Given the description of an element on the screen output the (x, y) to click on. 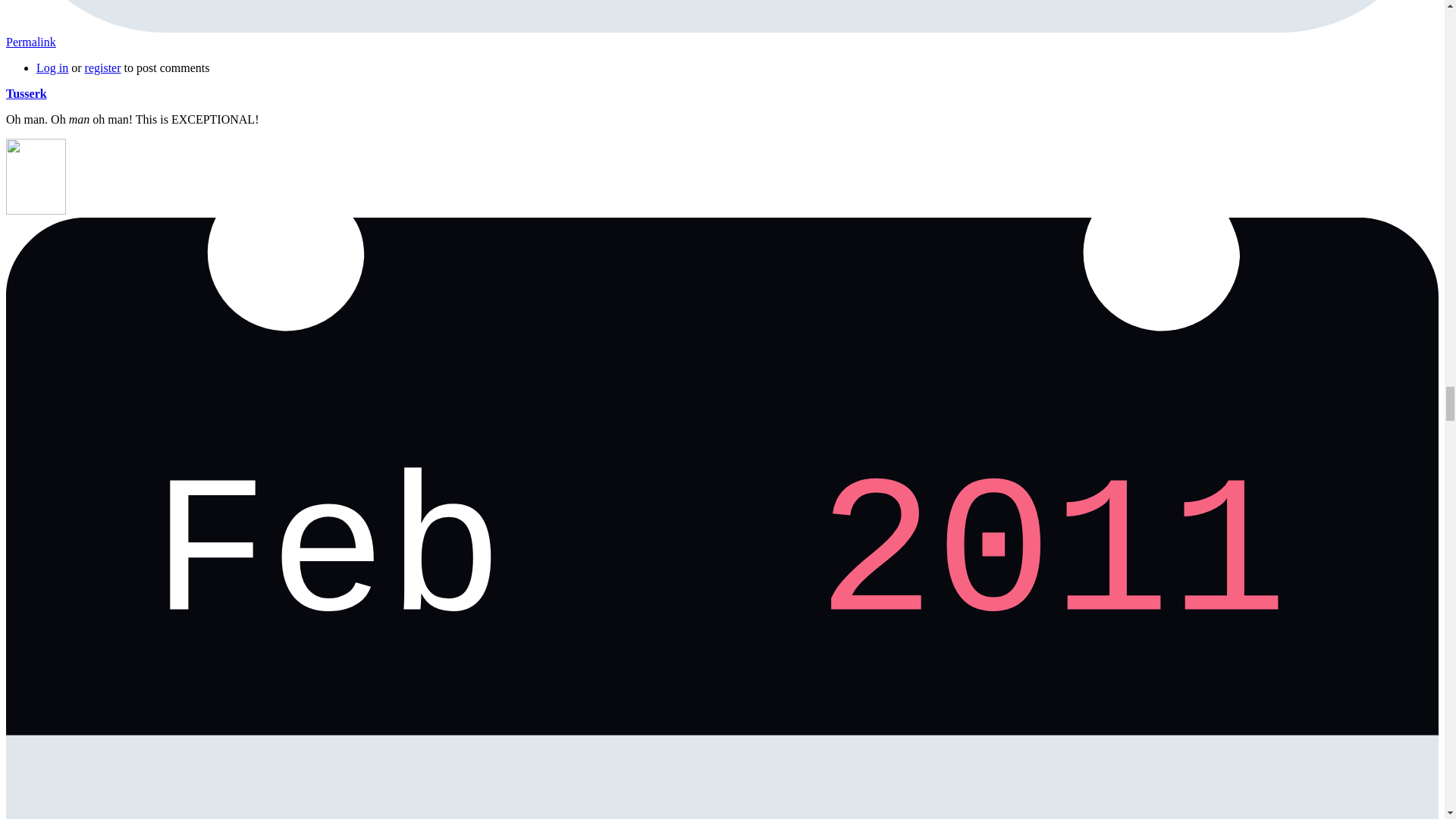
Permalink (30, 42)
Tusserk (25, 92)
register (102, 67)
View user profile. (25, 92)
Log in (52, 67)
